Given the description of an element on the screen output the (x, y) to click on. 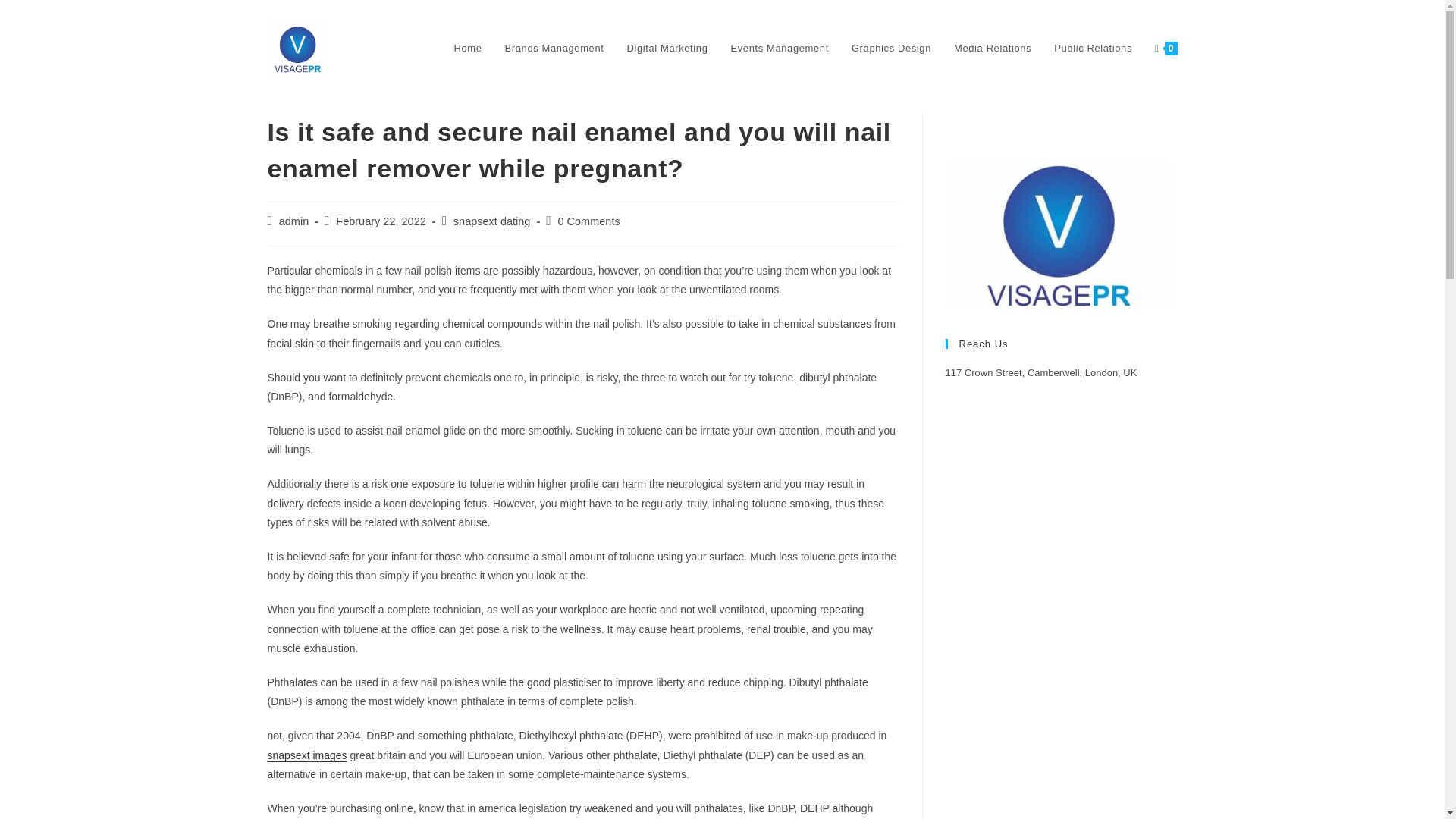
Brands Management (554, 48)
Digital Marketing (666, 48)
Home (467, 48)
Posts by admin (293, 221)
0 Comments (588, 221)
admin (293, 221)
Public Relations (1092, 48)
snapsext images (306, 755)
Graphics Design (891, 48)
snapsext dating (491, 221)
Media Relations (992, 48)
Events Management (779, 48)
